Given the description of an element on the screen output the (x, y) to click on. 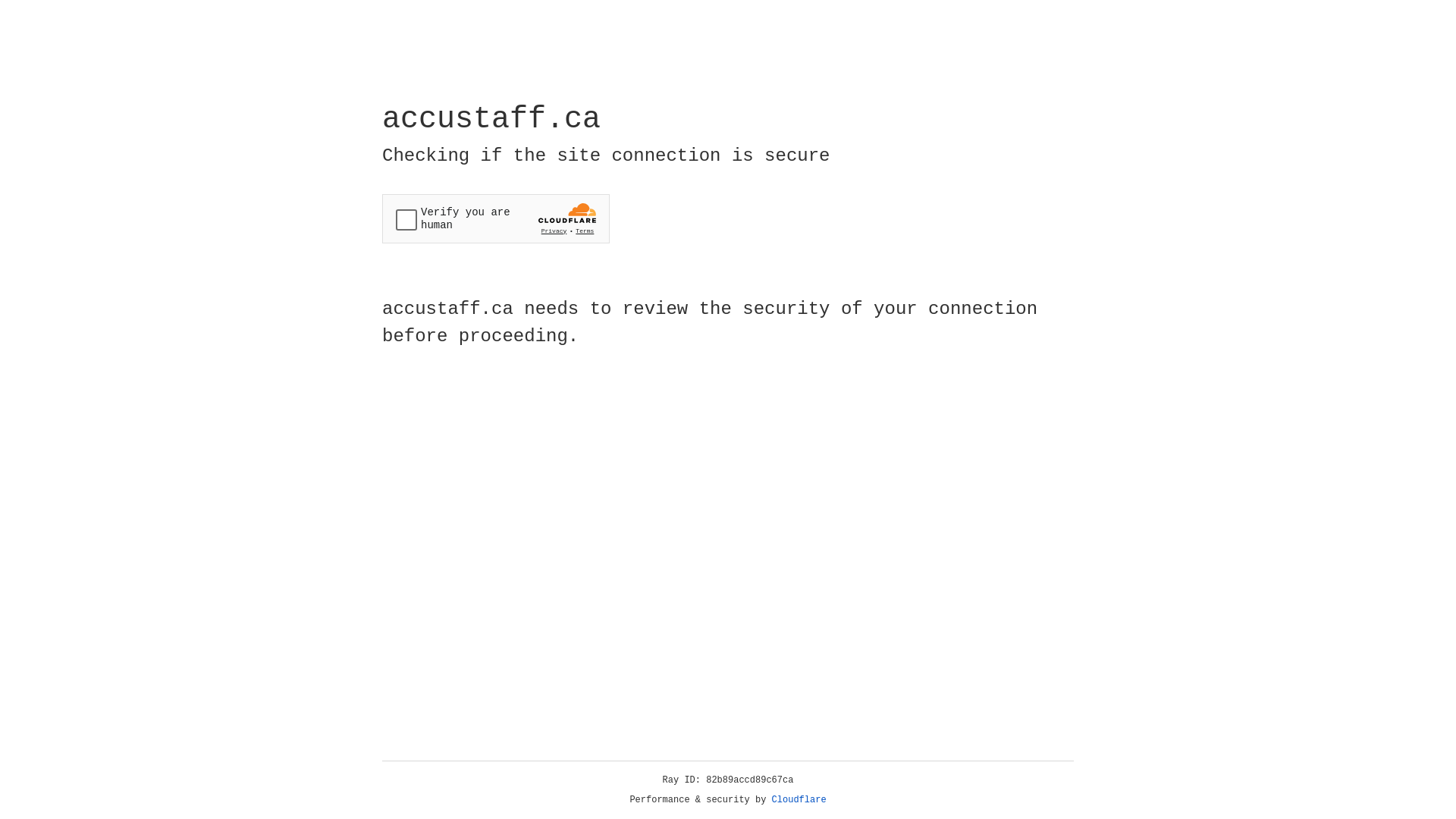
Cloudflare Element type: text (798, 799)
Widget containing a Cloudflare security challenge Element type: hover (495, 218)
